Given the description of an element on the screen output the (x, y) to click on. 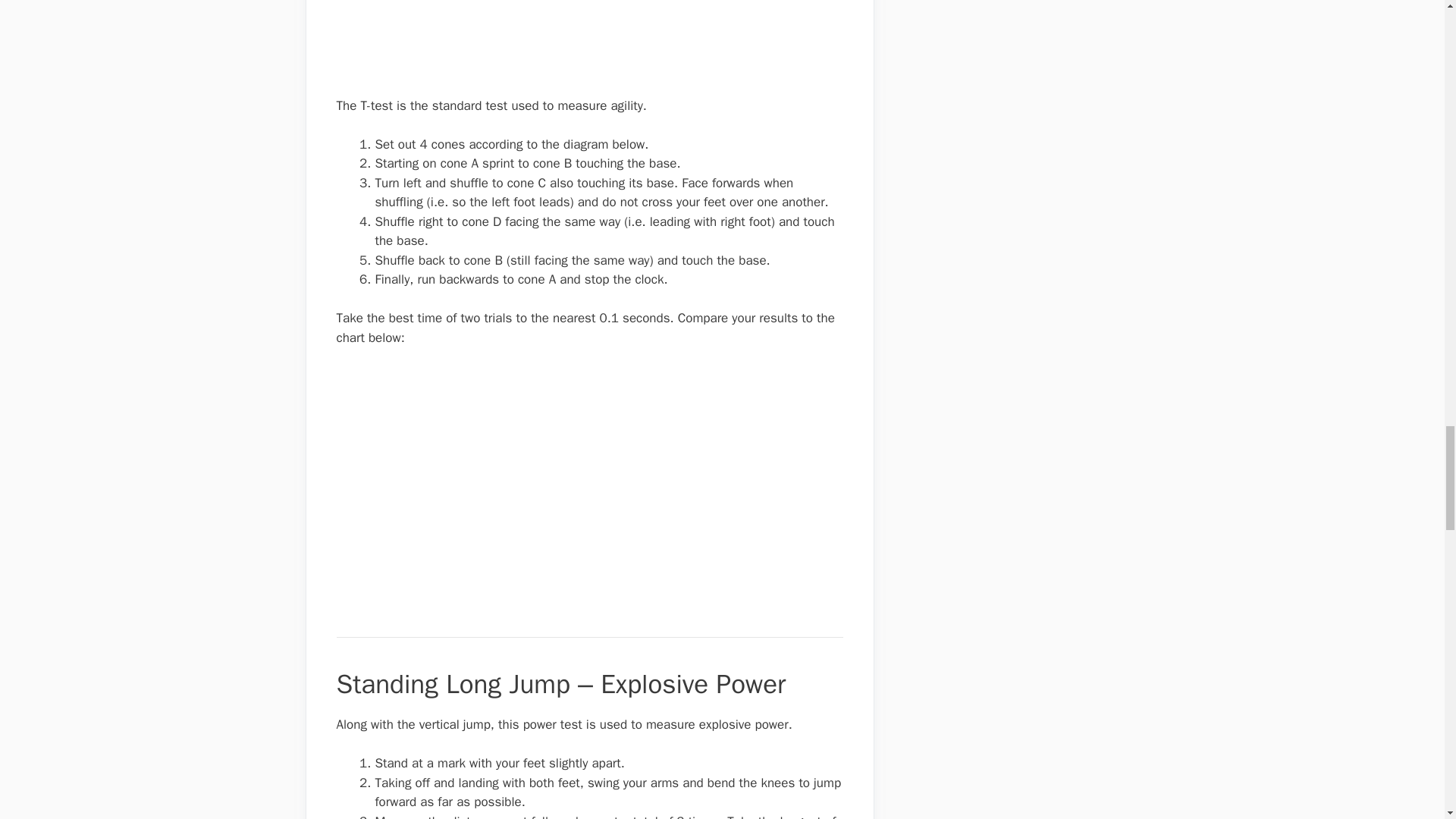
T Test (411, 45)
T Test scores (505, 483)
